Given the description of an element on the screen output the (x, y) to click on. 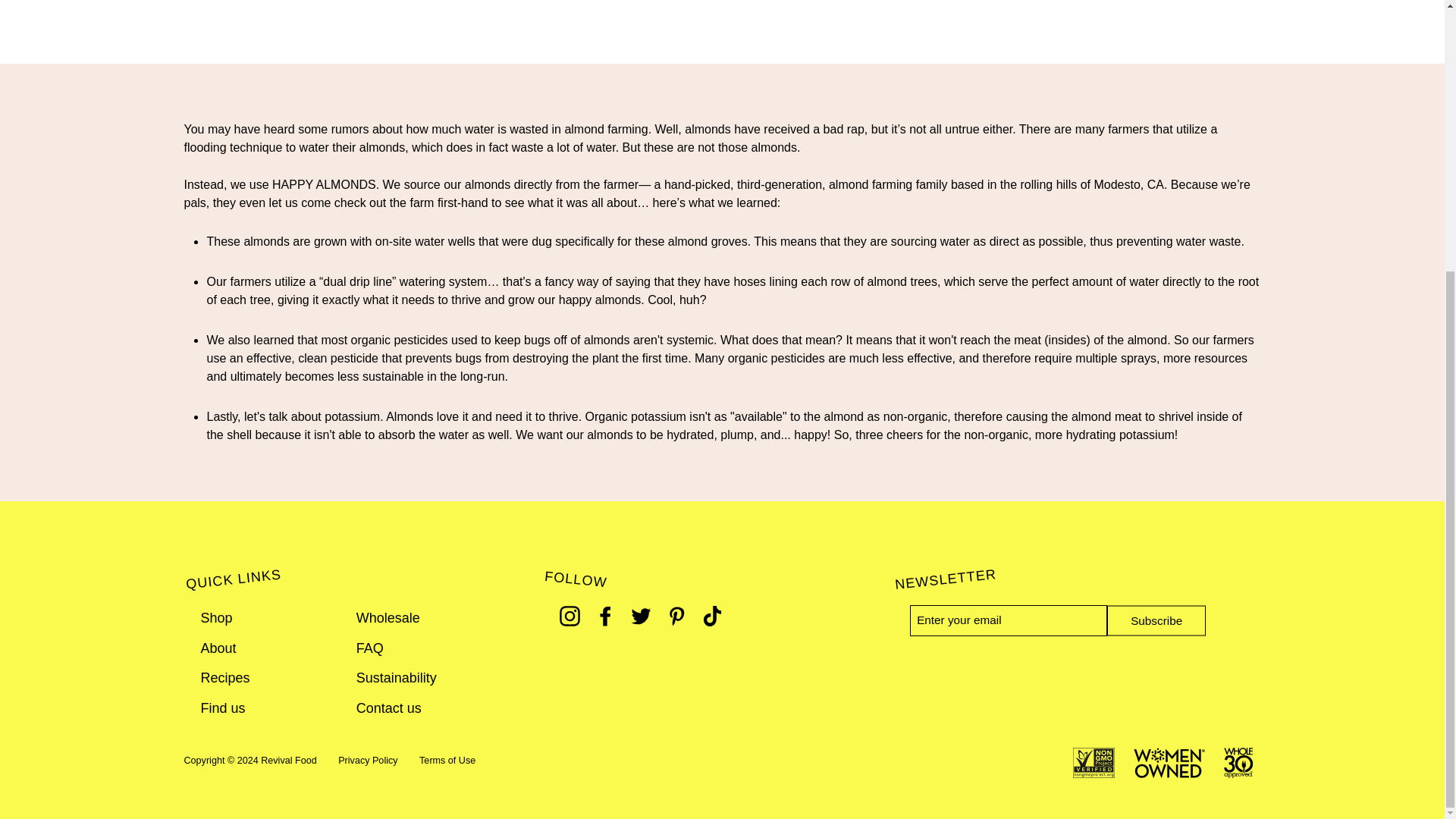
Revival Food on Pinterest (676, 615)
Revival Food on Instagram (569, 615)
Revival Food on TikTok (711, 615)
Revival Food on Twitter (640, 615)
Revival Food on Facebook (605, 615)
